Given the description of an element on the screen output the (x, y) to click on. 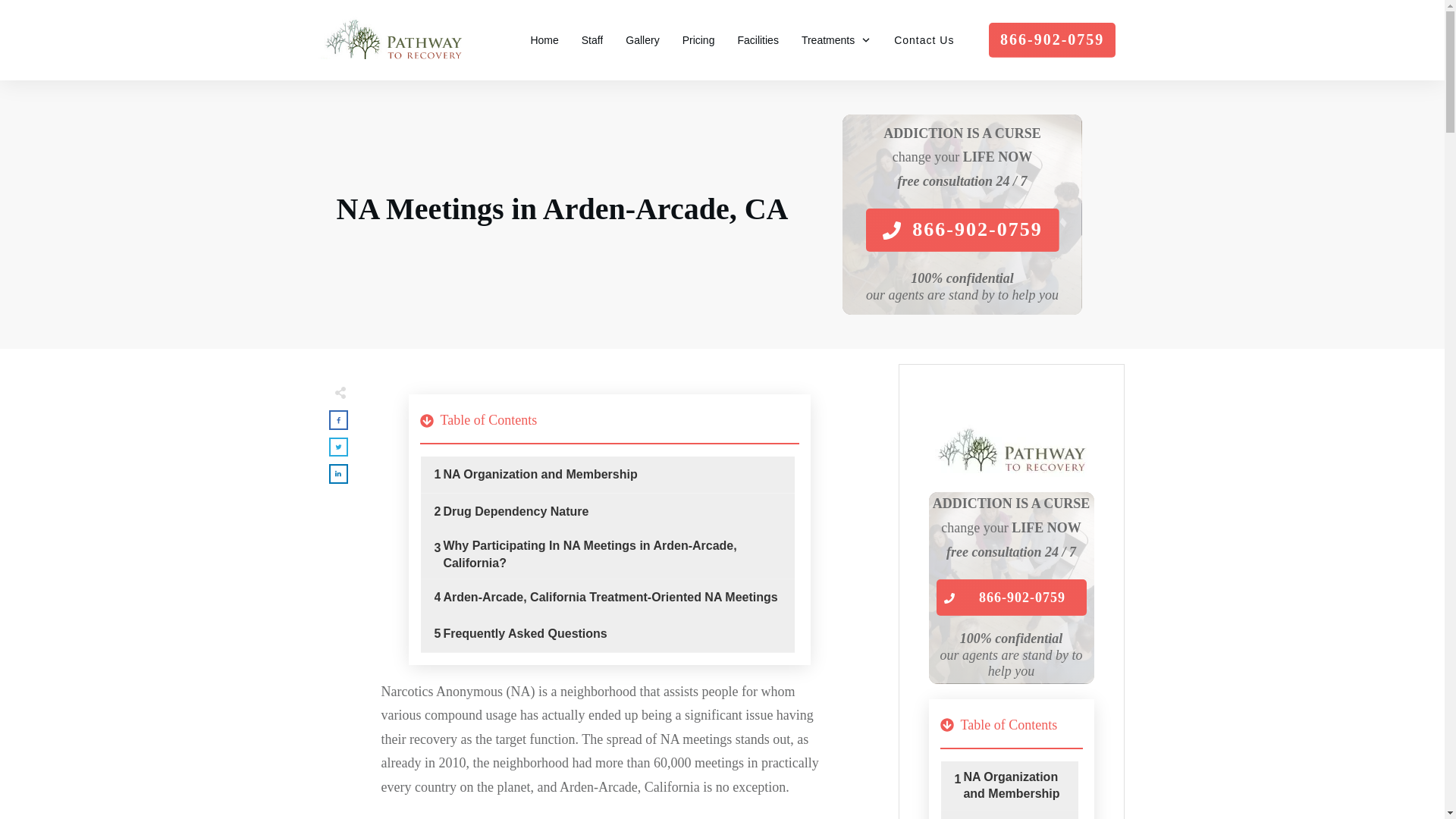
Arden-Arcade, California Treatment-Oriented NA Meetings (609, 597)
Drug Dependency Nature (1013, 818)
NA Organization and Membership (1013, 786)
Home (543, 39)
Facilities (756, 39)
Gallery (642, 39)
Drug Dependency Nature (515, 511)
866-902-0759 (1011, 597)
NA Organization and Membership (539, 474)
Contact Us (923, 39)
Frequently Asked Questions (524, 633)
Drug Dependency Nature (515, 511)
NA Organization and Membership (539, 474)
